Given the description of an element on the screen output the (x, y) to click on. 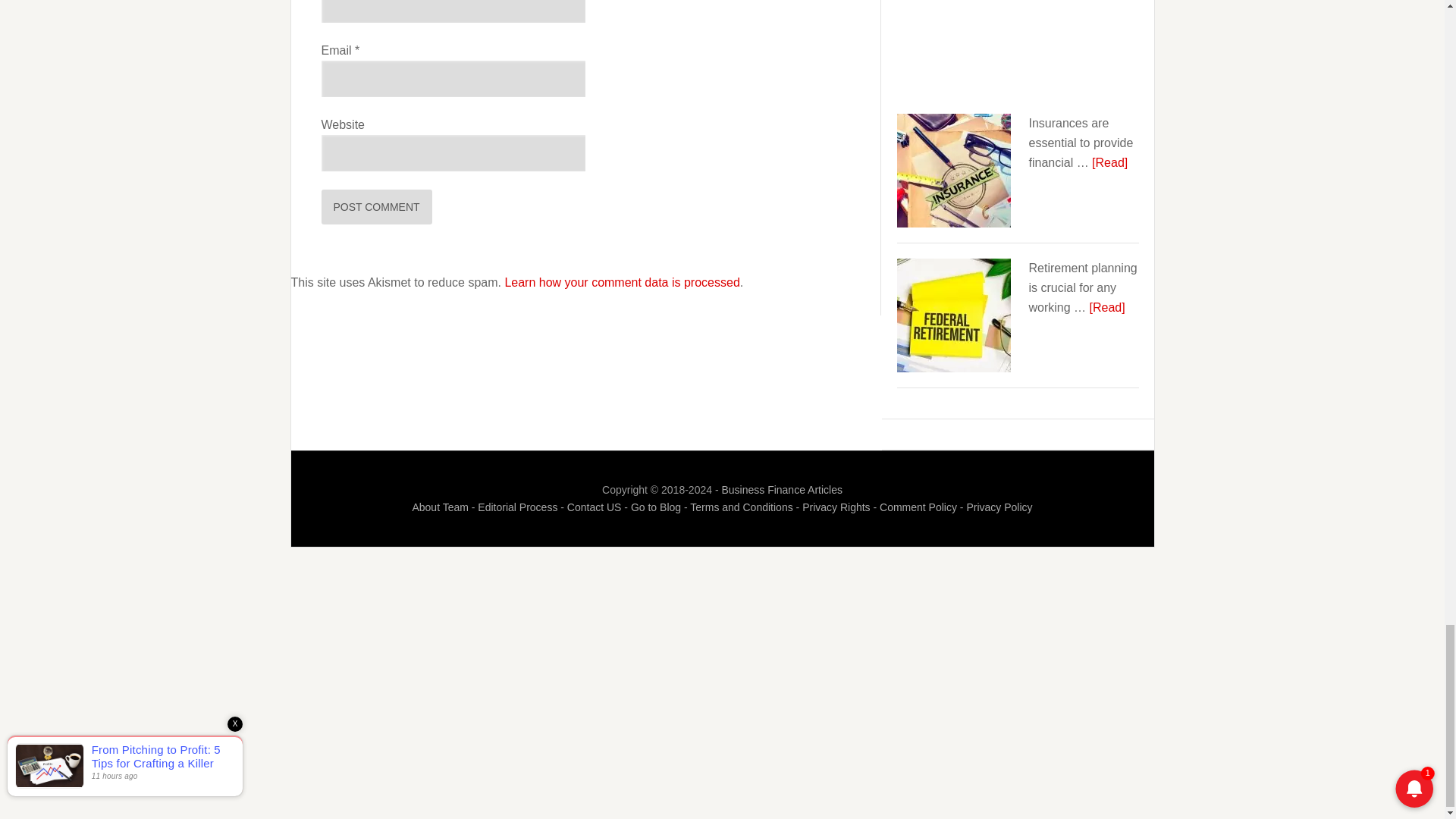
Post Comment (376, 206)
Advertisement (1017, 53)
Learn how your comment data is processed (621, 282)
Post Comment (376, 206)
Business Finance Articles (781, 490)
